Given the description of an element on the screen output the (x, y) to click on. 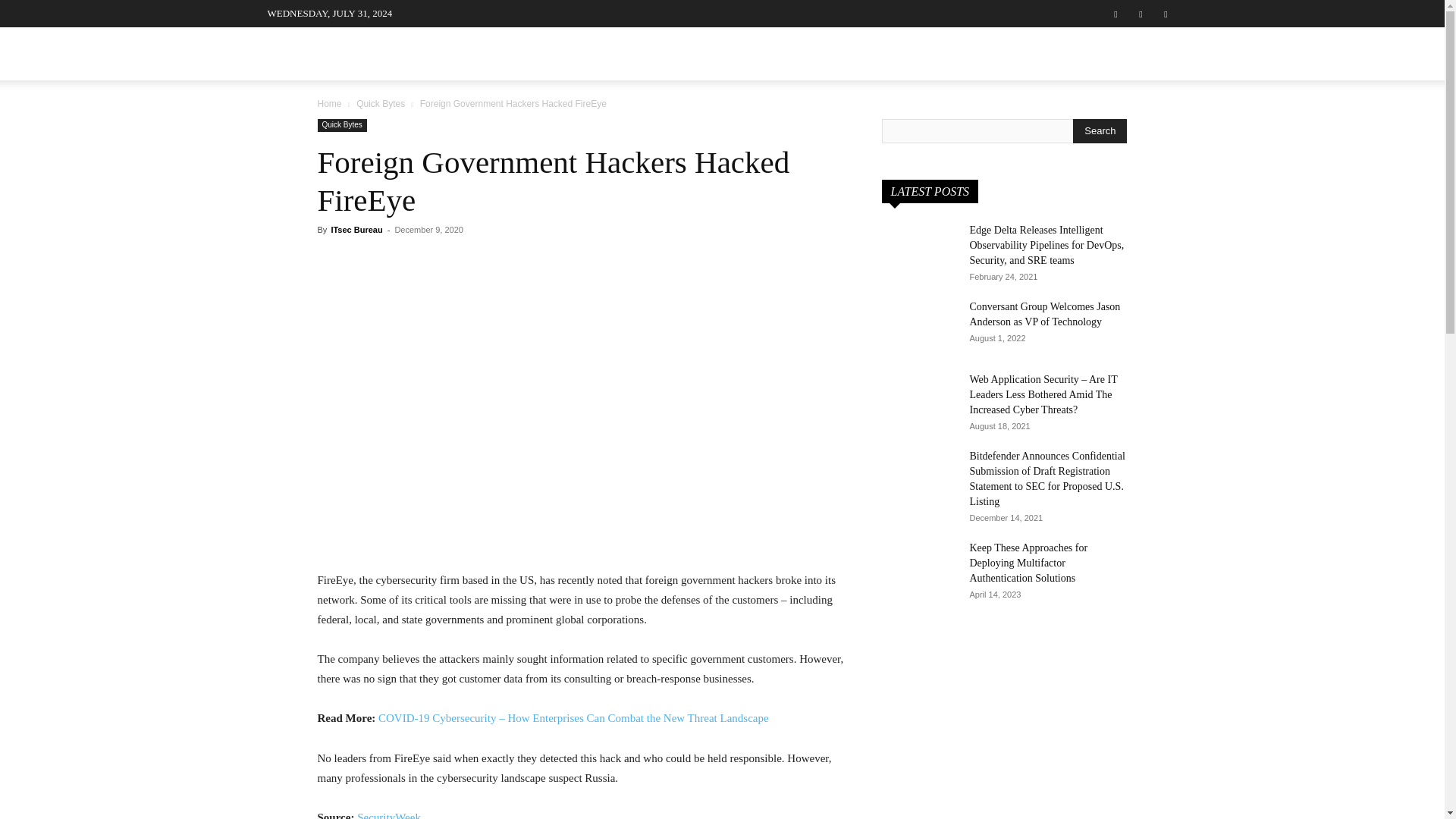
Home (328, 103)
INSIGHTS (778, 53)
ITSECURITYWIRE FAVCON (381, 57)
RESOURCES (984, 53)
View all posts in Quick Bytes (380, 103)
Quick Bytes (380, 103)
ARTICLES (610, 53)
Search (1099, 130)
Search (1134, 129)
PODCASTS (694, 53)
QUICK BYTES (883, 53)
INTERVIEWS (519, 53)
Quick Bytes (341, 124)
ITSecurityWire (381, 57)
